Given the description of an element on the screen output the (x, y) to click on. 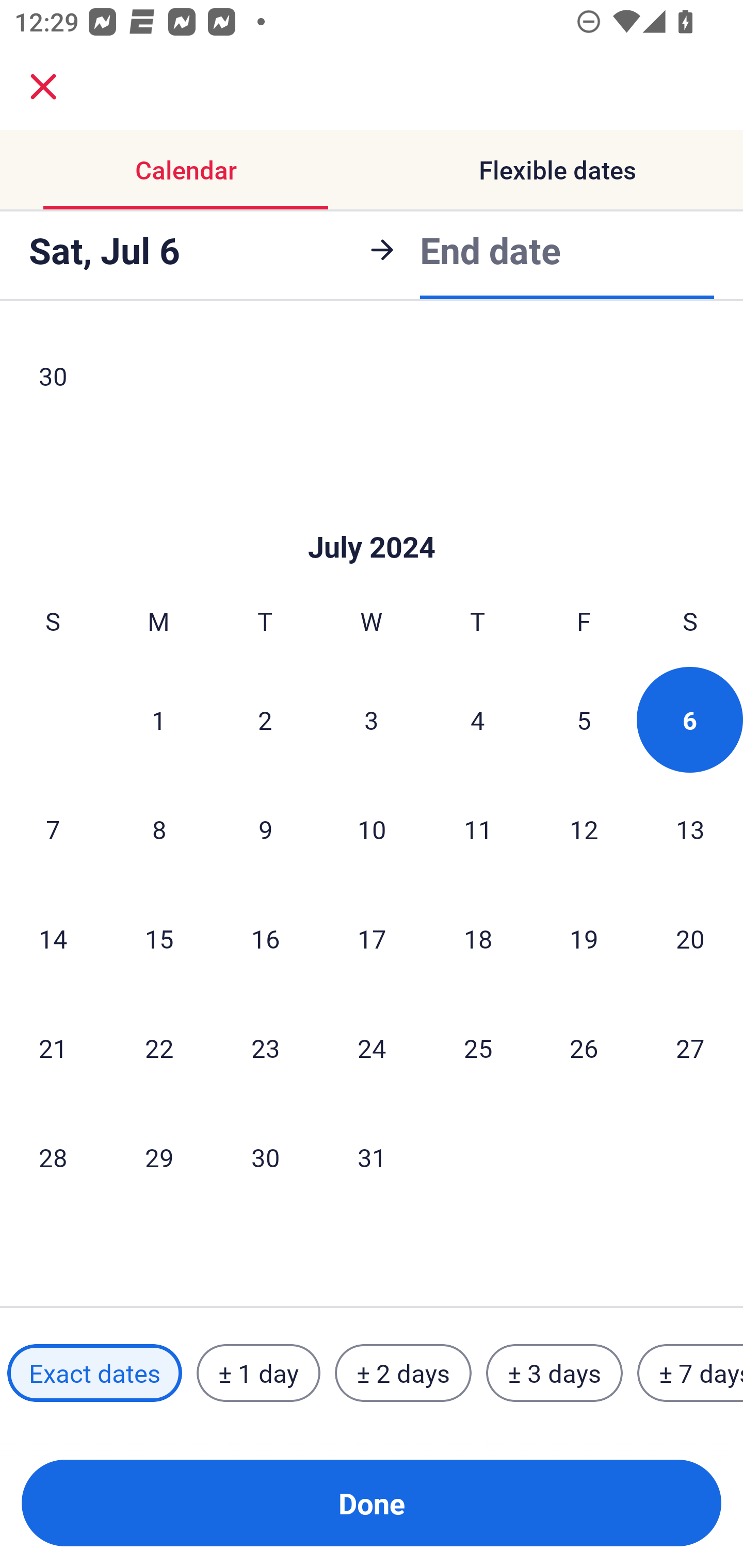
close. (43, 86)
Flexible dates (557, 170)
End date (489, 249)
30 Sunday, June 30, 2024 (53, 379)
Skip to Done (371, 516)
1 Monday, July 1, 2024 (158, 719)
2 Tuesday, July 2, 2024 (264, 719)
3 Wednesday, July 3, 2024 (371, 719)
4 Thursday, July 4, 2024 (477, 719)
5 Friday, July 5, 2024 (583, 719)
7 Sunday, July 7, 2024 (53, 828)
8 Monday, July 8, 2024 (159, 828)
9 Tuesday, July 9, 2024 (265, 828)
10 Wednesday, July 10, 2024 (371, 828)
11 Thursday, July 11, 2024 (477, 828)
12 Friday, July 12, 2024 (584, 828)
13 Saturday, July 13, 2024 (690, 828)
14 Sunday, July 14, 2024 (53, 937)
15 Monday, July 15, 2024 (159, 937)
16 Tuesday, July 16, 2024 (265, 937)
17 Wednesday, July 17, 2024 (371, 937)
18 Thursday, July 18, 2024 (477, 937)
19 Friday, July 19, 2024 (584, 937)
20 Saturday, July 20, 2024 (690, 937)
21 Sunday, July 21, 2024 (53, 1047)
22 Monday, July 22, 2024 (159, 1047)
23 Tuesday, July 23, 2024 (265, 1047)
24 Wednesday, July 24, 2024 (371, 1047)
25 Thursday, July 25, 2024 (477, 1047)
26 Friday, July 26, 2024 (584, 1047)
27 Saturday, July 27, 2024 (690, 1047)
28 Sunday, July 28, 2024 (53, 1156)
29 Monday, July 29, 2024 (159, 1156)
30 Tuesday, July 30, 2024 (265, 1156)
31 Wednesday, July 31, 2024 (371, 1156)
Exact dates (94, 1372)
± 1 day (258, 1372)
± 2 days (403, 1372)
± 3 days (553, 1372)
± 7 days (690, 1372)
Done (371, 1502)
